Given the description of an element on the screen output the (x, y) to click on. 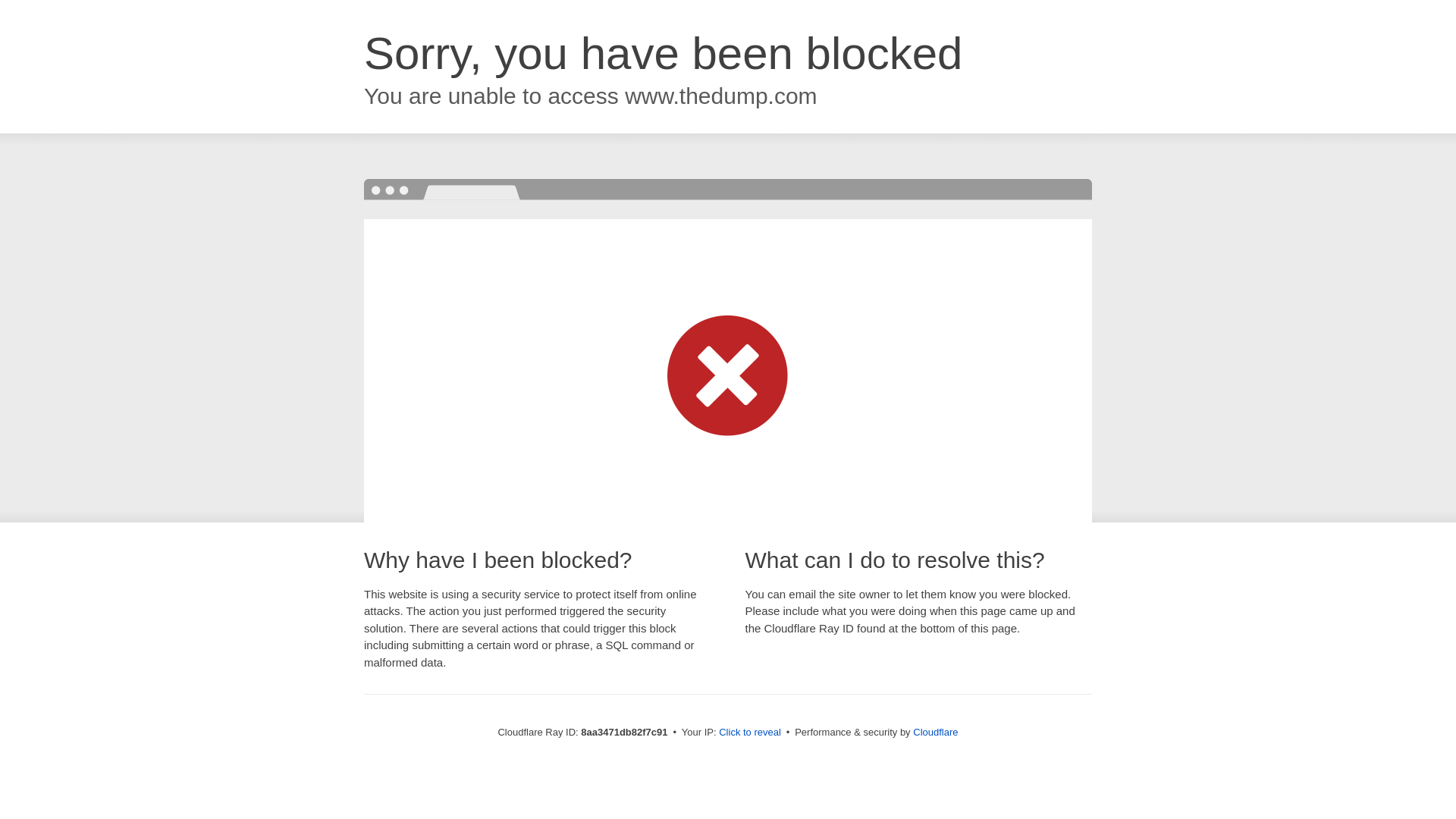
Cloudflare (935, 731)
Click to reveal (749, 732)
